Given the description of an element on the screen output the (x, y) to click on. 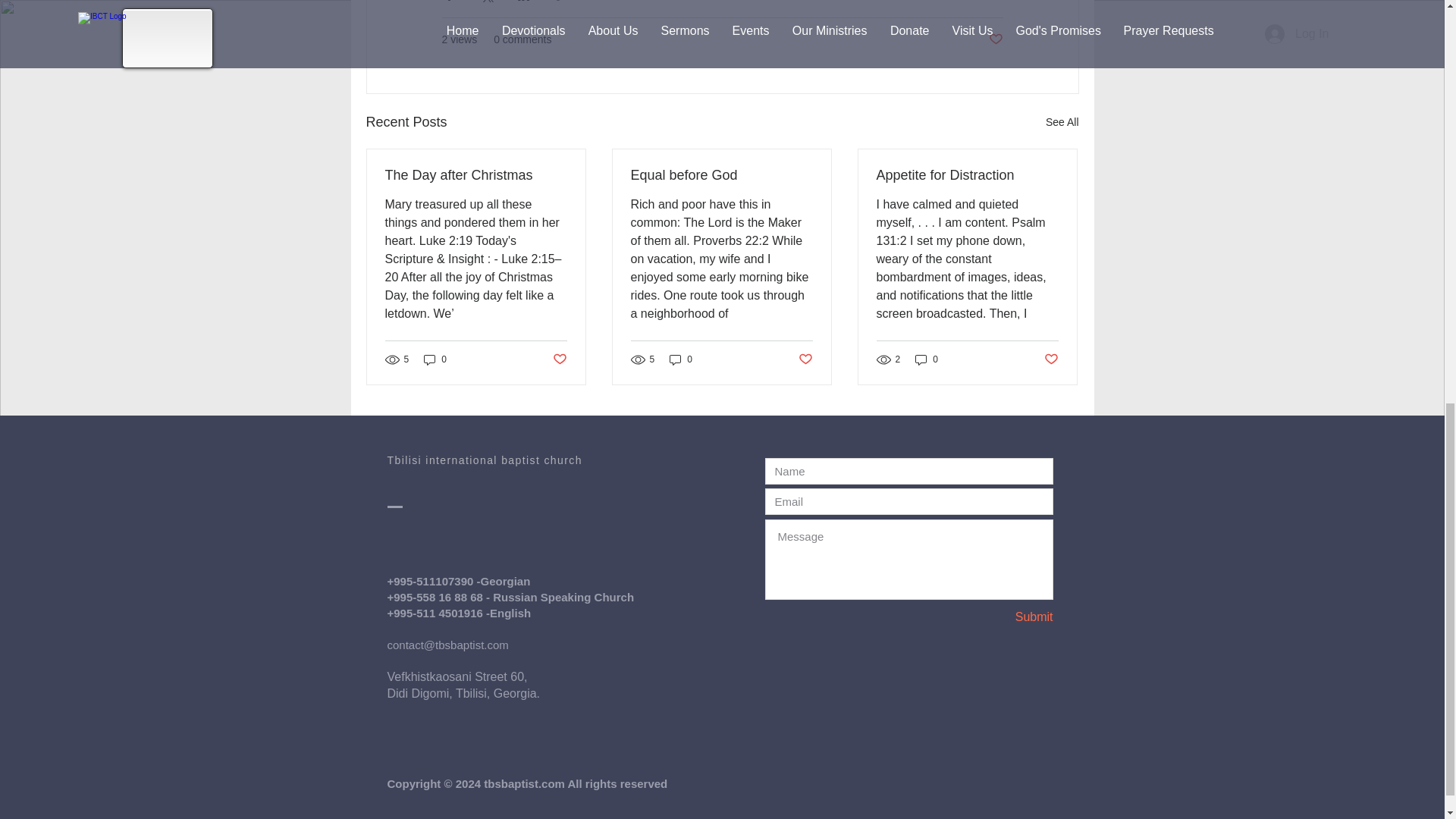
0 (681, 359)
Equal before God (721, 175)
See All (1061, 122)
Post not marked as liked (995, 39)
Post not marked as liked (558, 359)
0 (435, 359)
Appetite for Distraction (967, 175)
Post not marked as liked (804, 359)
The Day after Christmas (476, 175)
0 (926, 359)
